Given the description of an element on the screen output the (x, y) to click on. 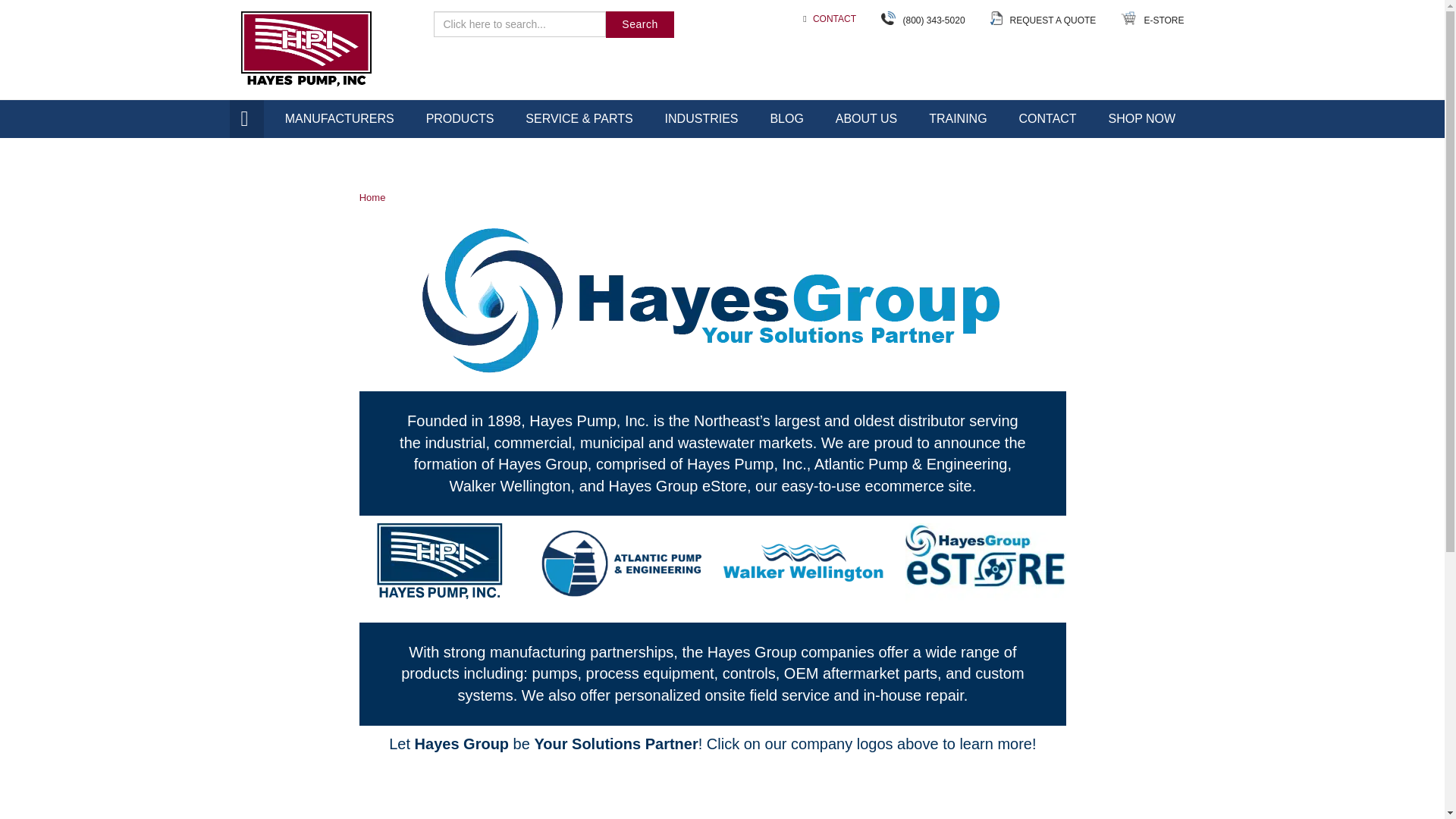
CONTACT (834, 18)
Search (639, 24)
Hayes Pump (306, 51)
PRODUCTS (459, 118)
E-STORE (1162, 19)
Call Hayes Pump (932, 19)
Click here to search... (520, 23)
MANUFACTURERS (339, 118)
REQUEST A QUOTE (1053, 19)
